Given the description of an element on the screen output the (x, y) to click on. 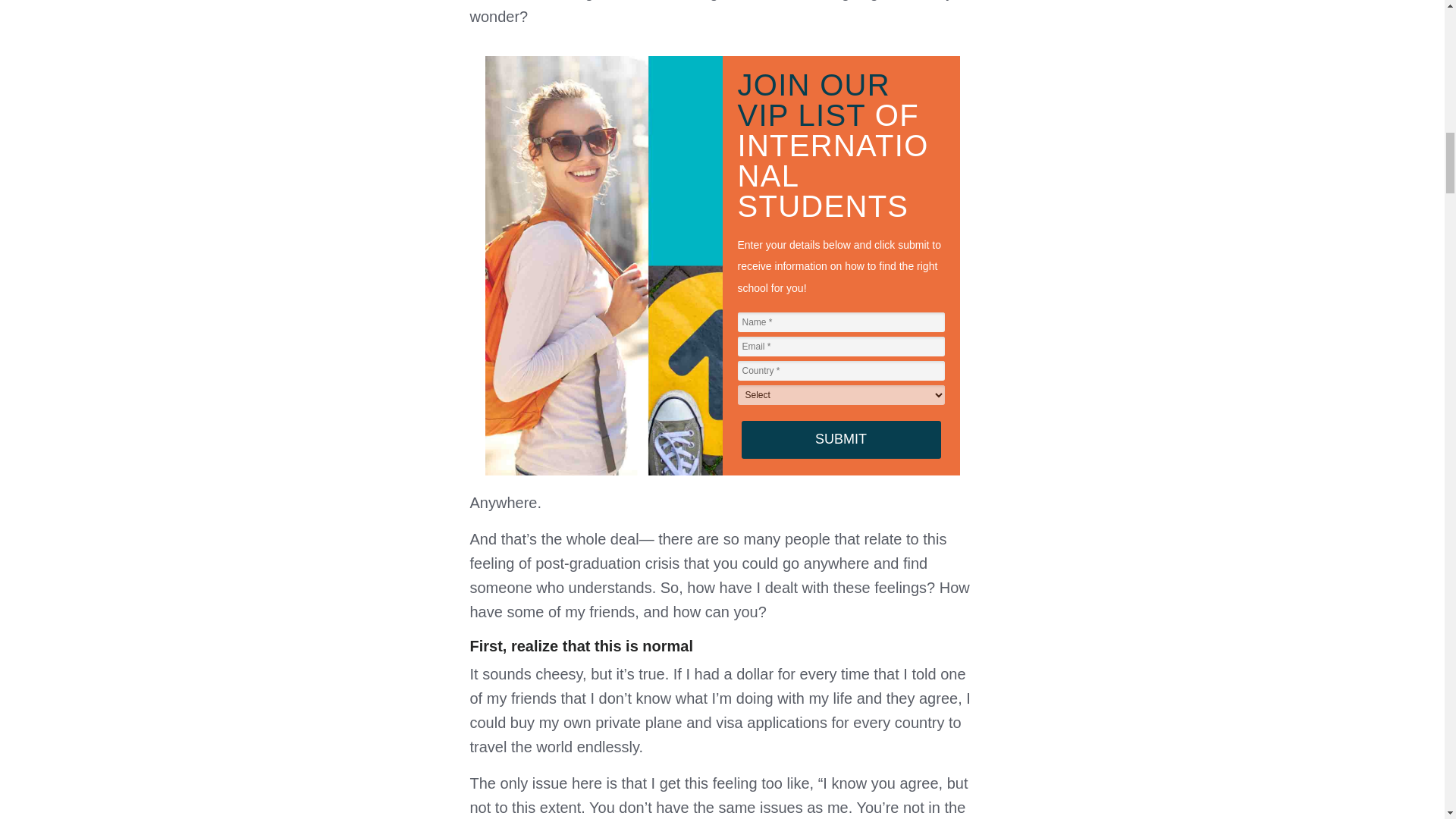
SUBMIT (840, 439)
